Given the description of an element on the screen output the (x, y) to click on. 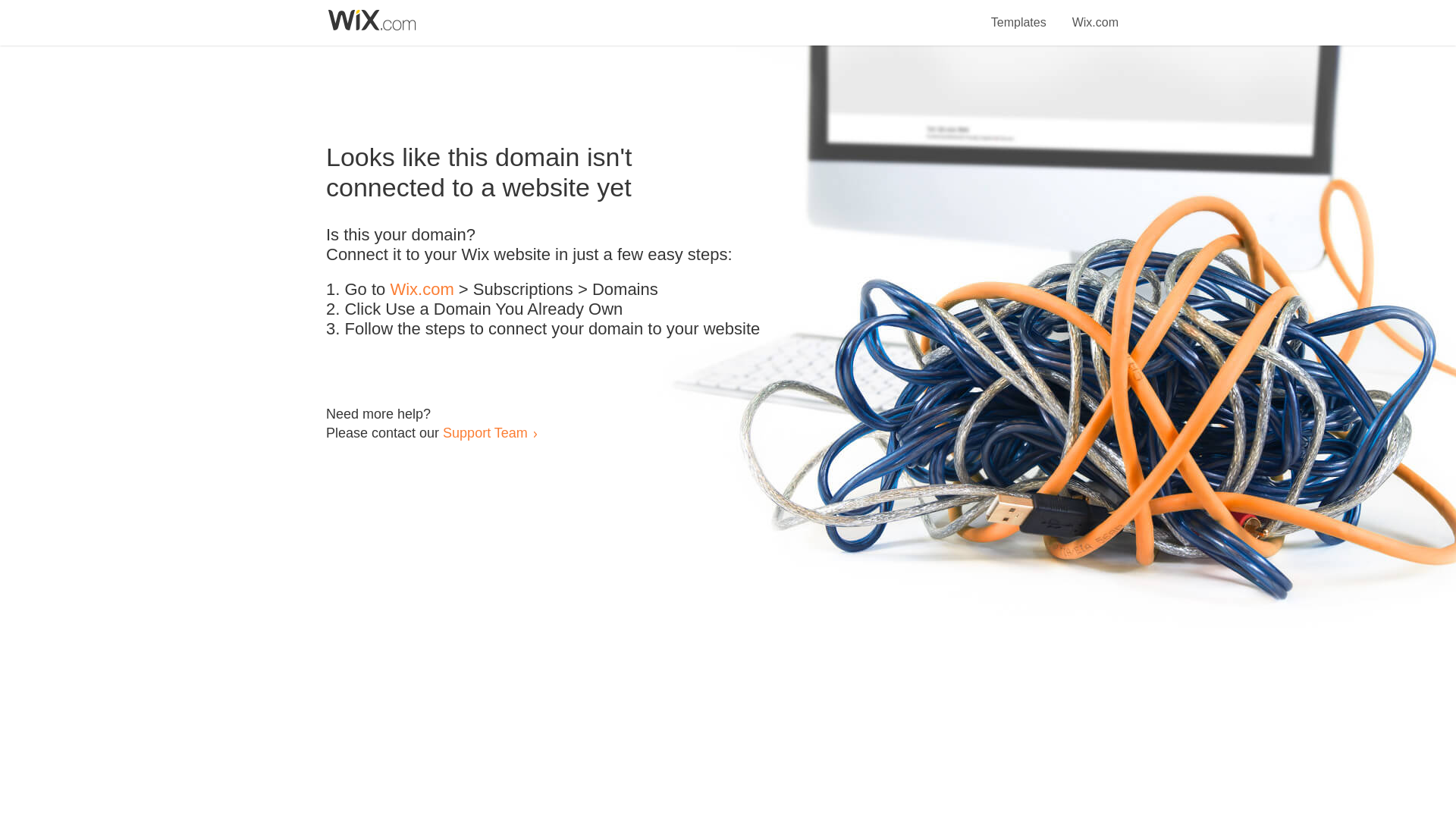
Wix.com (421, 289)
Support Team (484, 432)
Templates (1018, 14)
Wix.com (1095, 14)
